Given the description of an element on the screen output the (x, y) to click on. 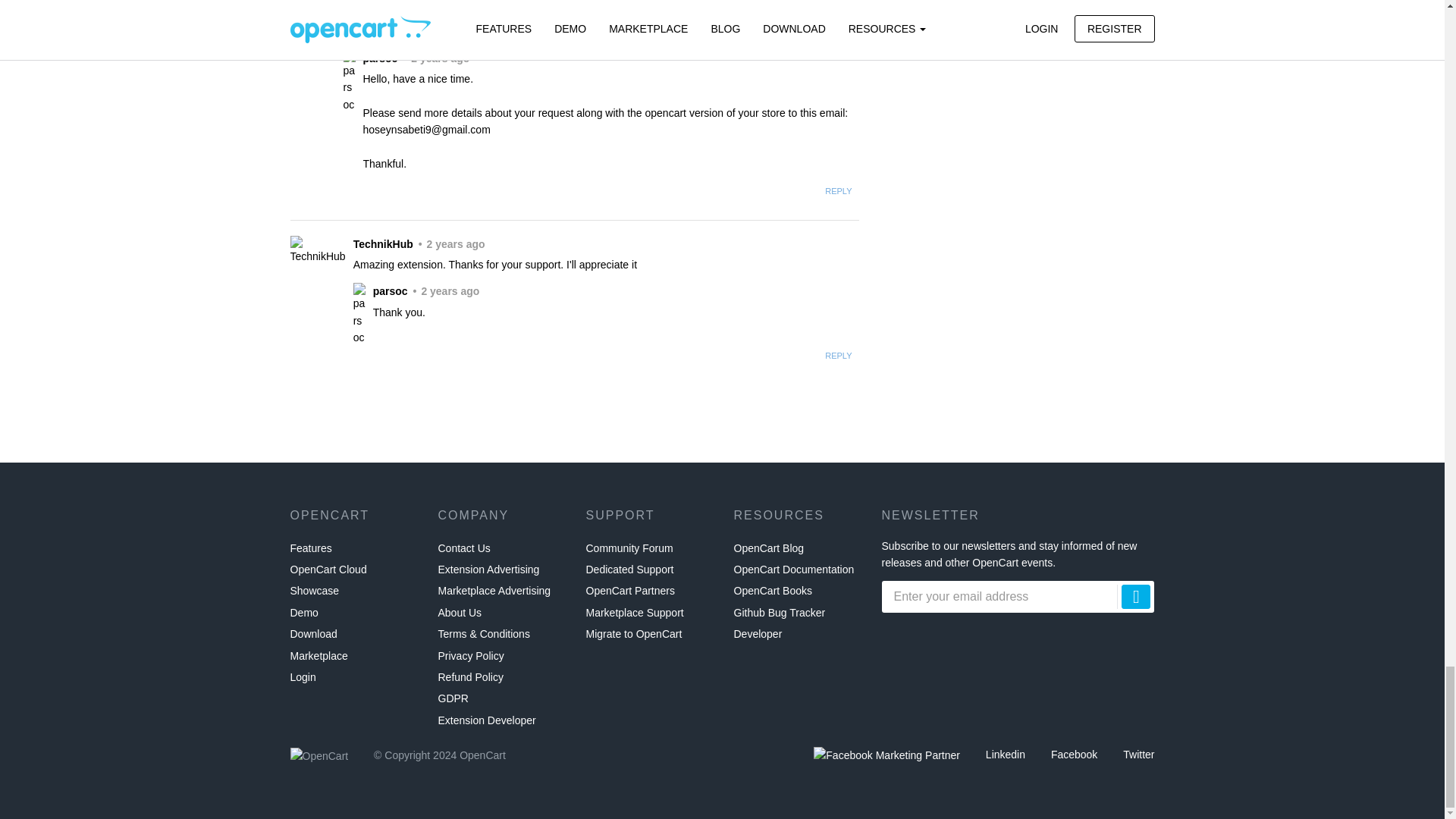
REPLY (838, 355)
Facebook Marketing Partner (886, 754)
TechnikHub (317, 249)
OpenCart (318, 755)
Busta1066 (311, 15)
REPLY (838, 191)
